Given the description of an element on the screen output the (x, y) to click on. 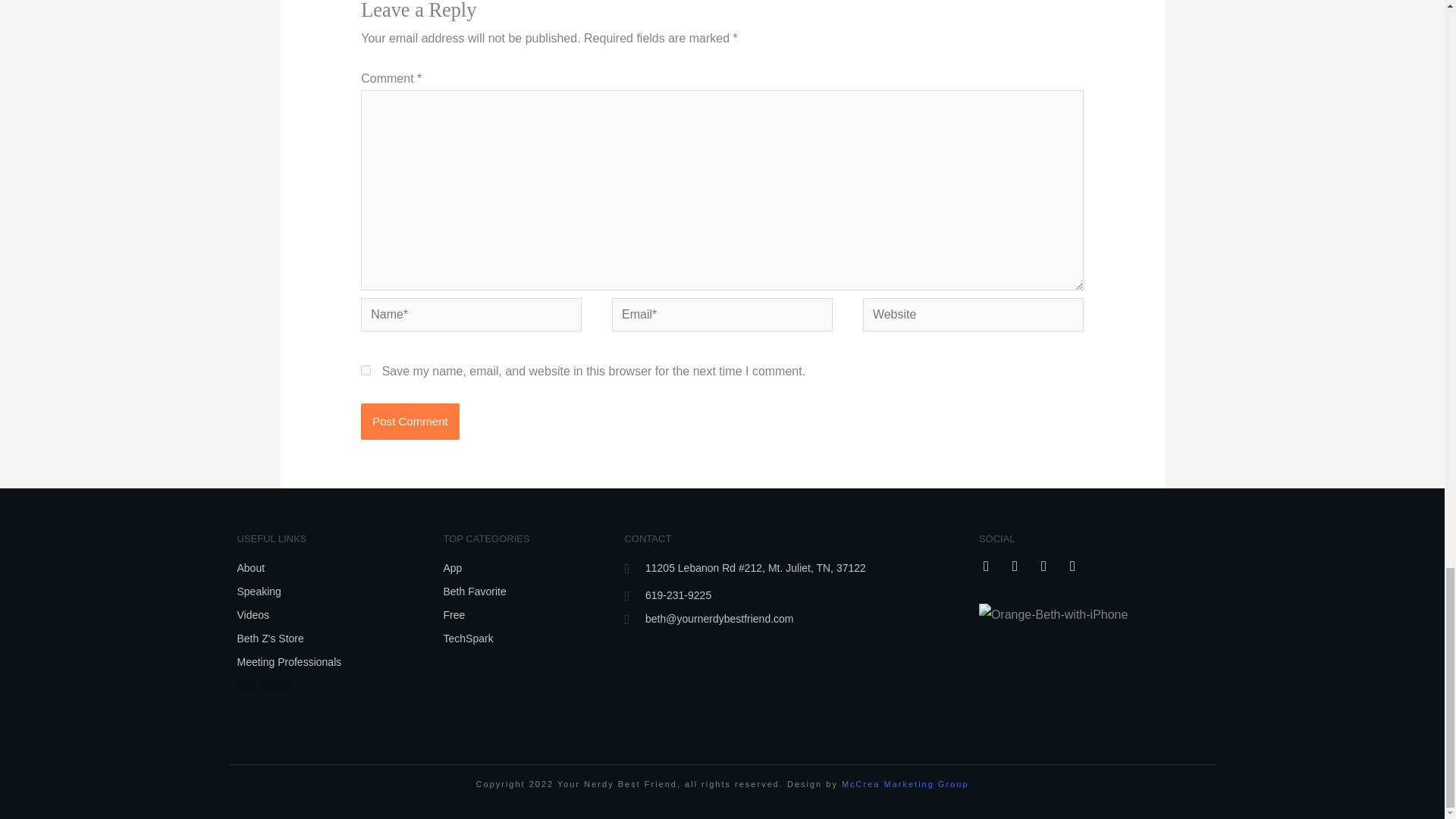
Post Comment (410, 421)
yes (366, 370)
